Given the description of an element on the screen output the (x, y) to click on. 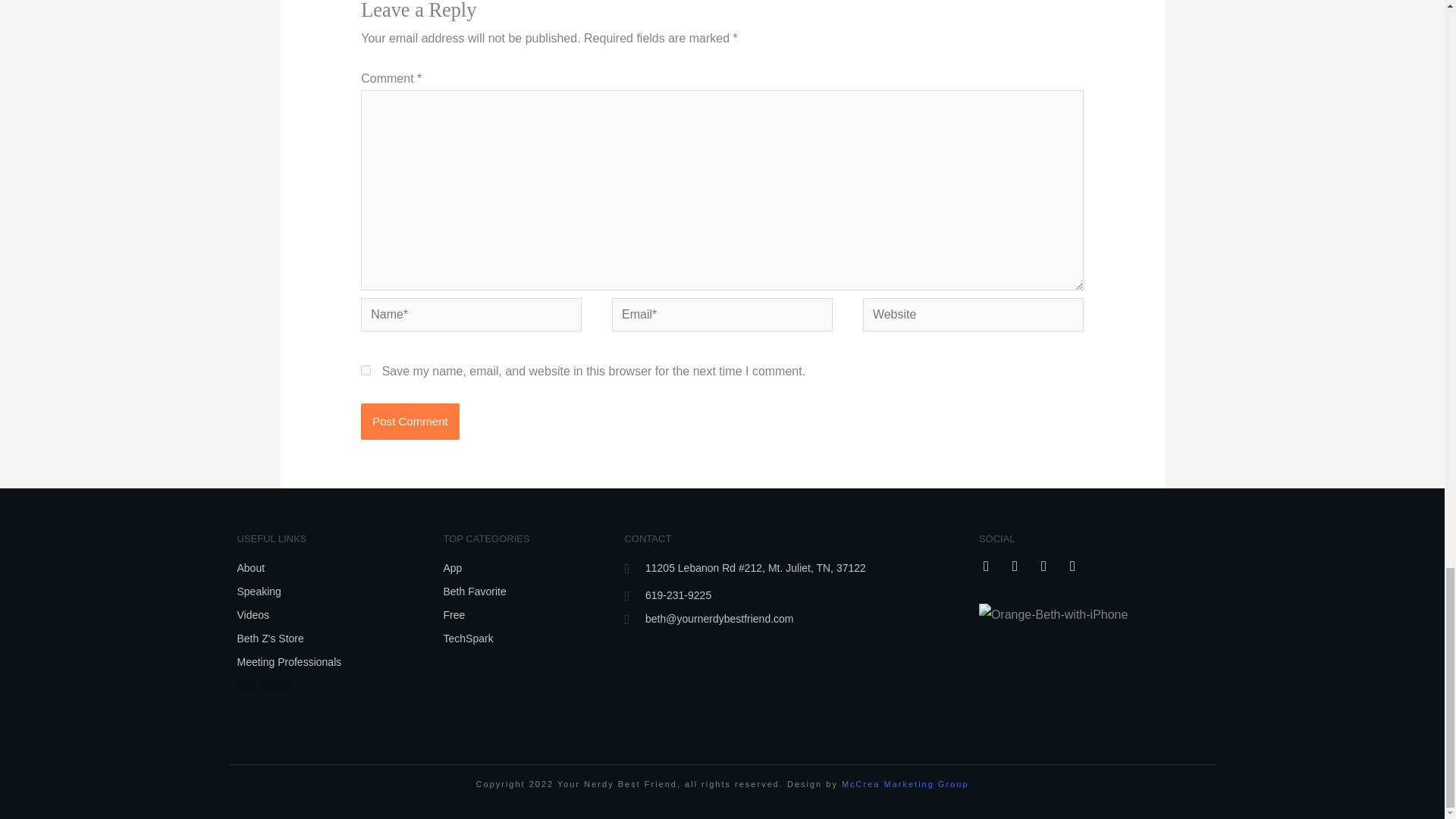
Post Comment (410, 421)
yes (366, 370)
